Given the description of an element on the screen output the (x, y) to click on. 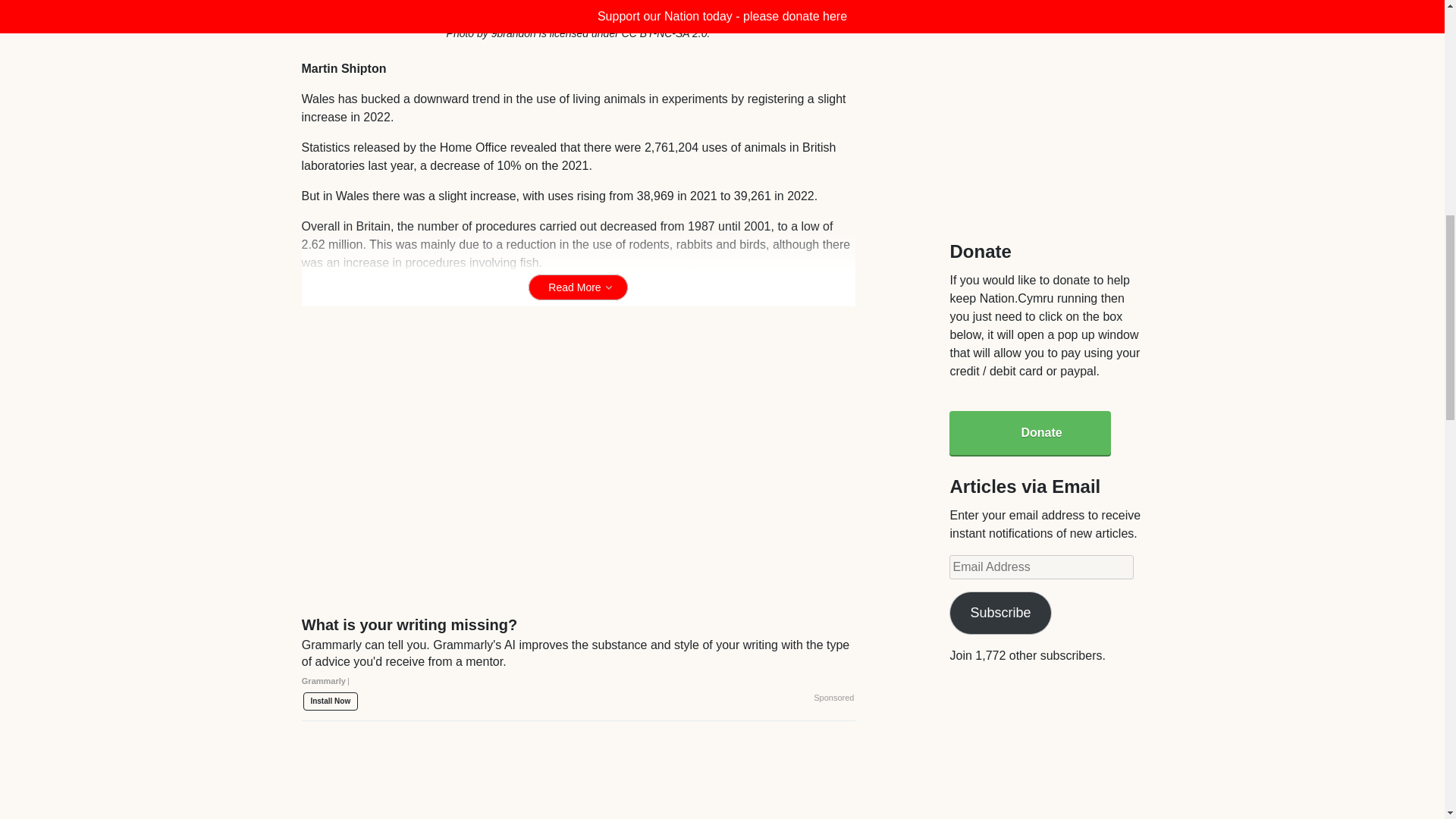
Install Now (330, 701)
Read More (577, 287)
Sponsored (833, 697)
What is your writing missing? (578, 658)
